Given the description of an element on the screen output the (x, y) to click on. 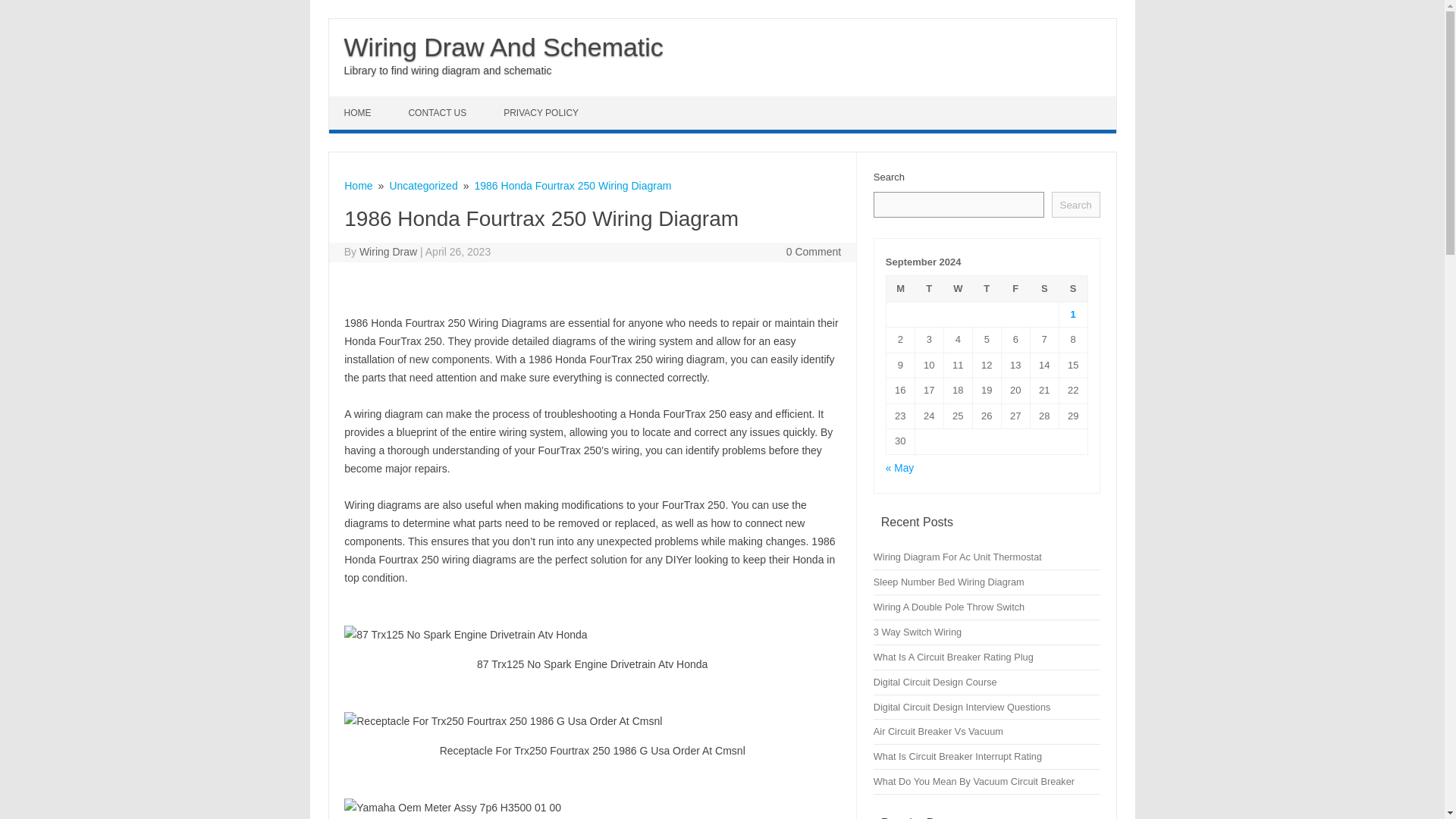
Home (357, 185)
0 Comment (813, 251)
What Do You Mean By Vacuum Circuit Breaker (973, 781)
Wiring Draw And Schematic (503, 46)
Sleep Number Bed Wiring Diagram (949, 582)
Skip to content (363, 101)
Air Circuit Breaker Vs Vacuum (938, 731)
What Is Circuit Breaker Interrupt Rating (957, 756)
What Is A Circuit Breaker Rating Plug (953, 656)
Uncategorized (422, 185)
